Given the description of an element on the screen output the (x, y) to click on. 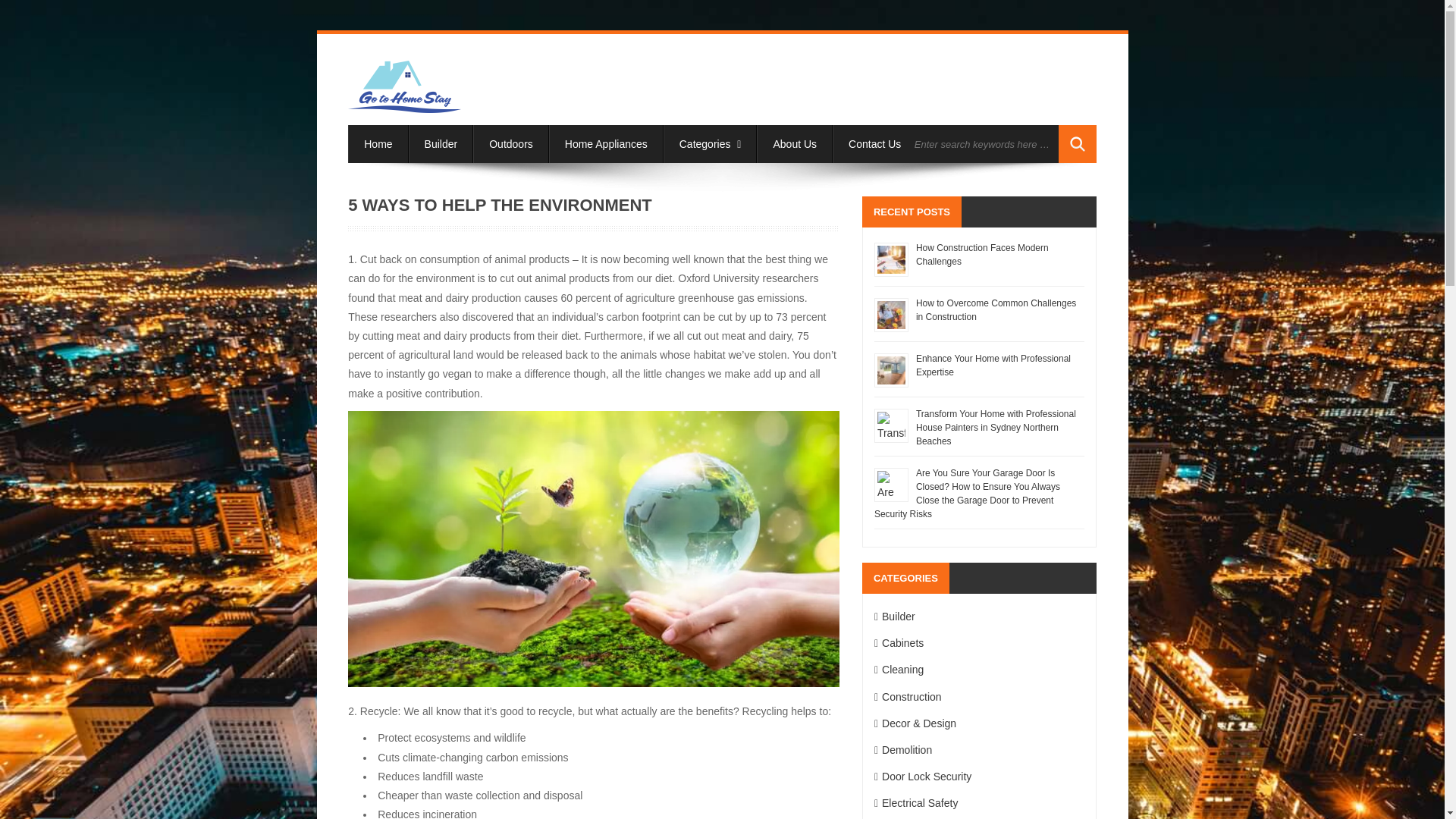
Builder (441, 143)
Outdoors (510, 143)
Advertise with Us (973, 143)
Categories (710, 143)
Home Appliances (605, 143)
Contact Us (874, 143)
About Us (794, 143)
Home (377, 143)
Search for: (982, 143)
